Given the description of an element on the screen output the (x, y) to click on. 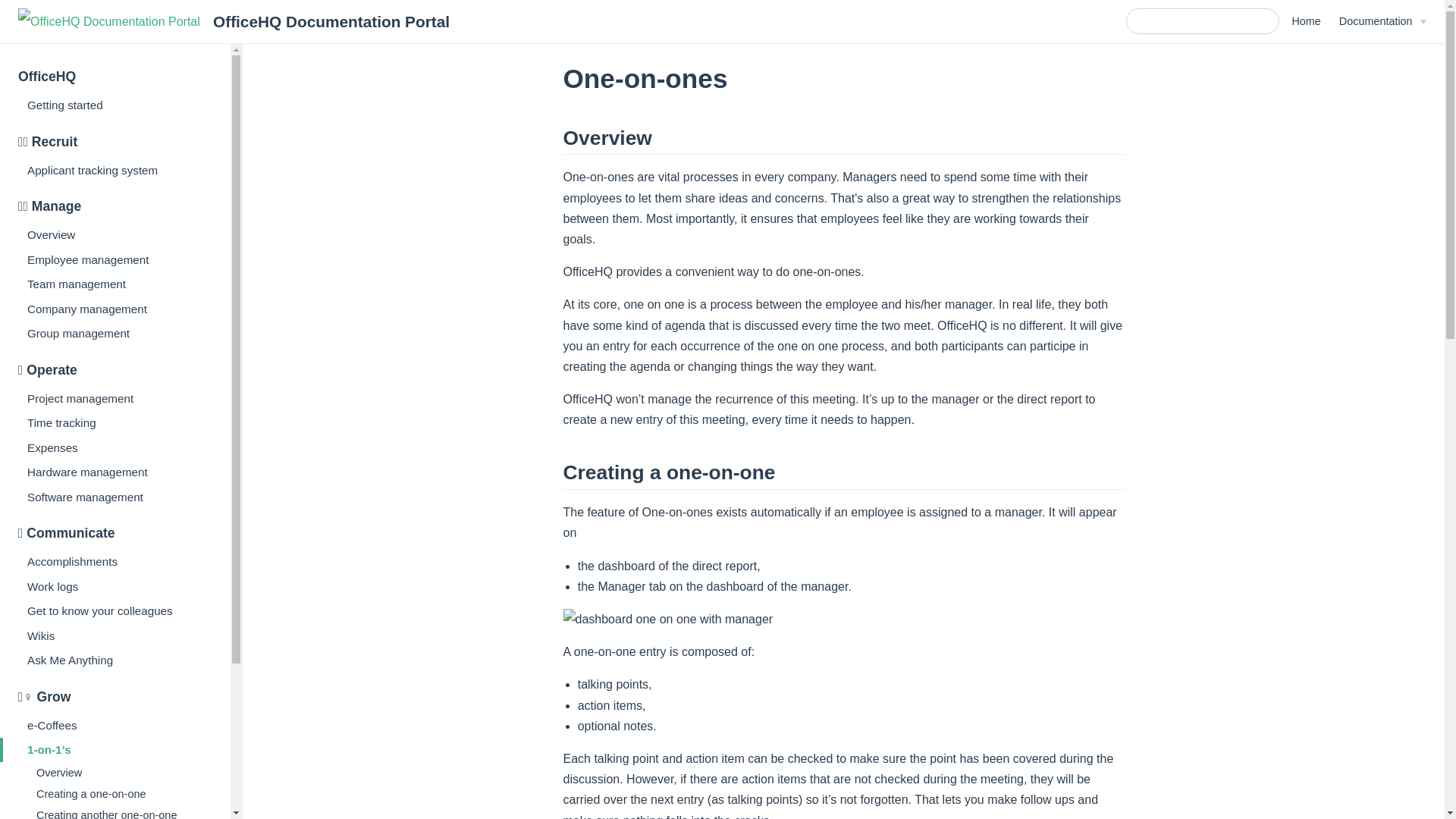
OfficeHQ Documentation Portal (233, 22)
Expenses (115, 446)
Time tracking (115, 422)
Group management (115, 333)
Overview (120, 772)
Work logs (115, 586)
e-Coffees (115, 724)
Project management (115, 397)
Hardware management (115, 472)
Team management (115, 283)
Getting started (115, 105)
Creating another one-on-one (120, 811)
Accomplishments (115, 561)
Employee management (115, 259)
Wikis (115, 635)
